Given the description of an element on the screen output the (x, y) to click on. 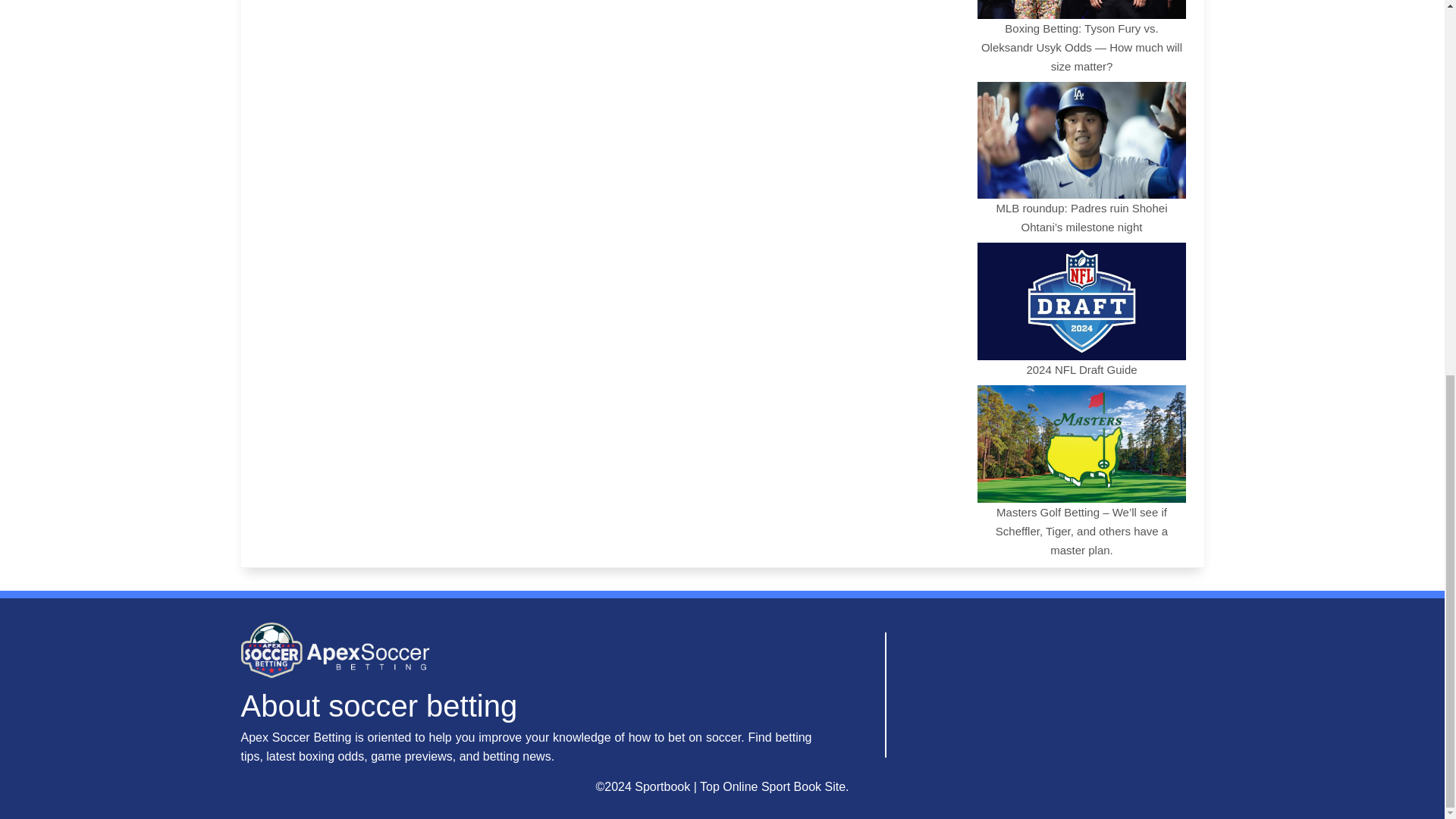
2024 NFL Draft Guide (1081, 308)
